Given the description of an element on the screen output the (x, y) to click on. 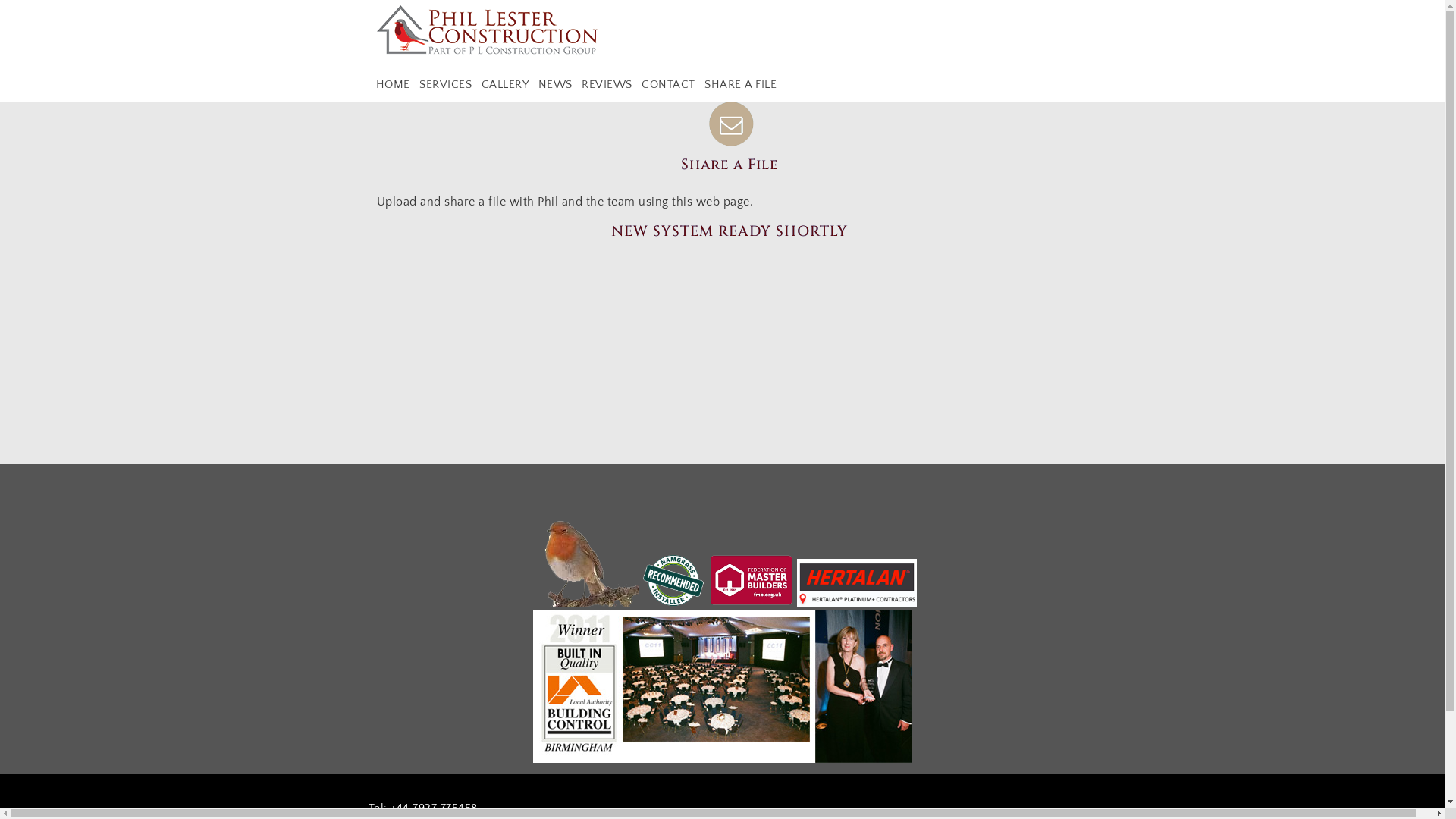
CONTACT Element type: text (668, 84)
GALLERY Element type: text (504, 84)
HOME Element type: text (393, 84)
SERVICES Element type: text (445, 84)
Tel: +44 7927 775458 Element type: text (422, 807)
SHARE A FILE Element type: text (740, 84)
REVIEWS Element type: text (606, 84)
NEWS Element type: text (555, 84)
